Given the description of an element on the screen output the (x, y) to click on. 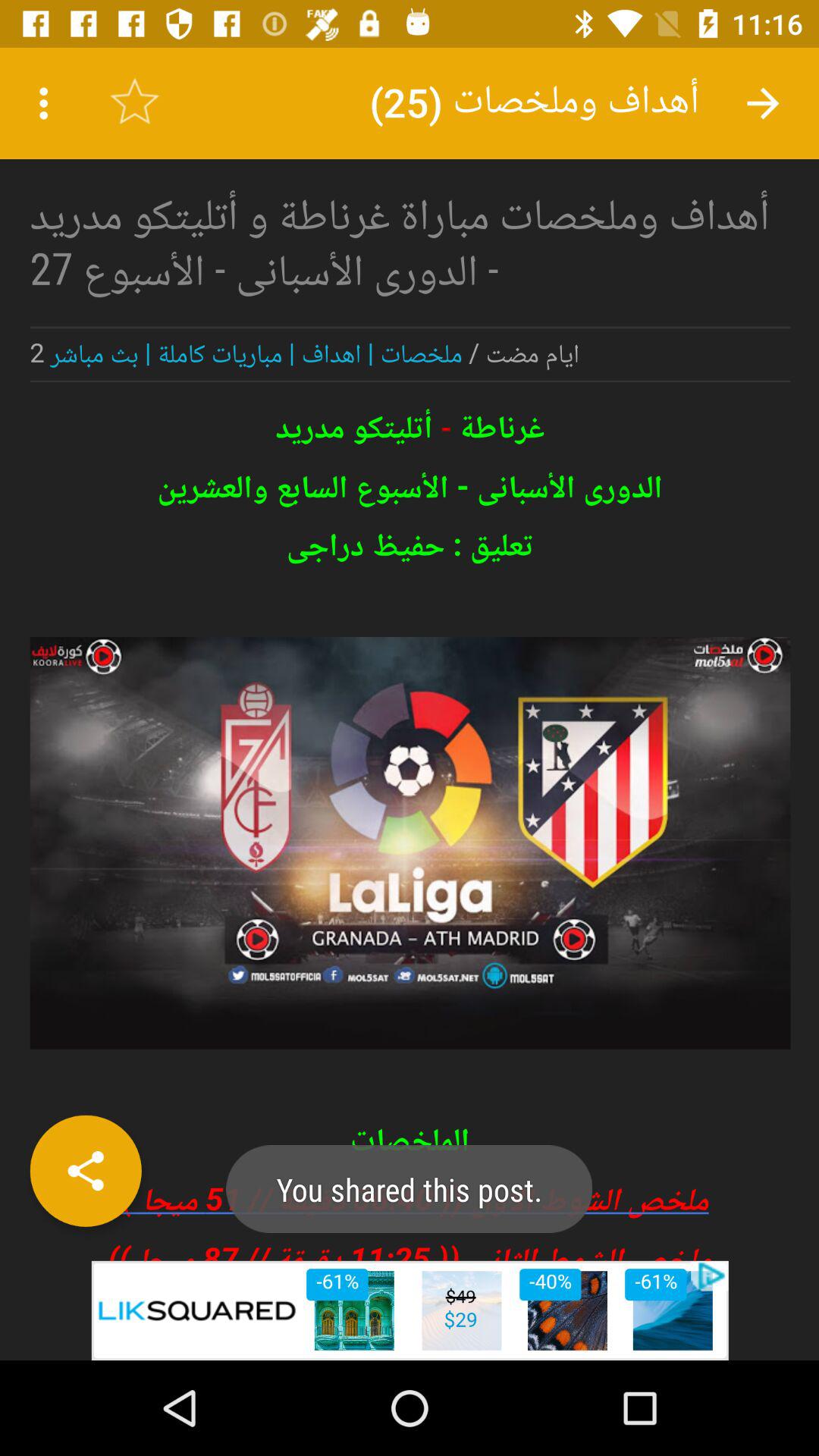
advertisement (409, 1310)
